Given the description of an element on the screen output the (x, y) to click on. 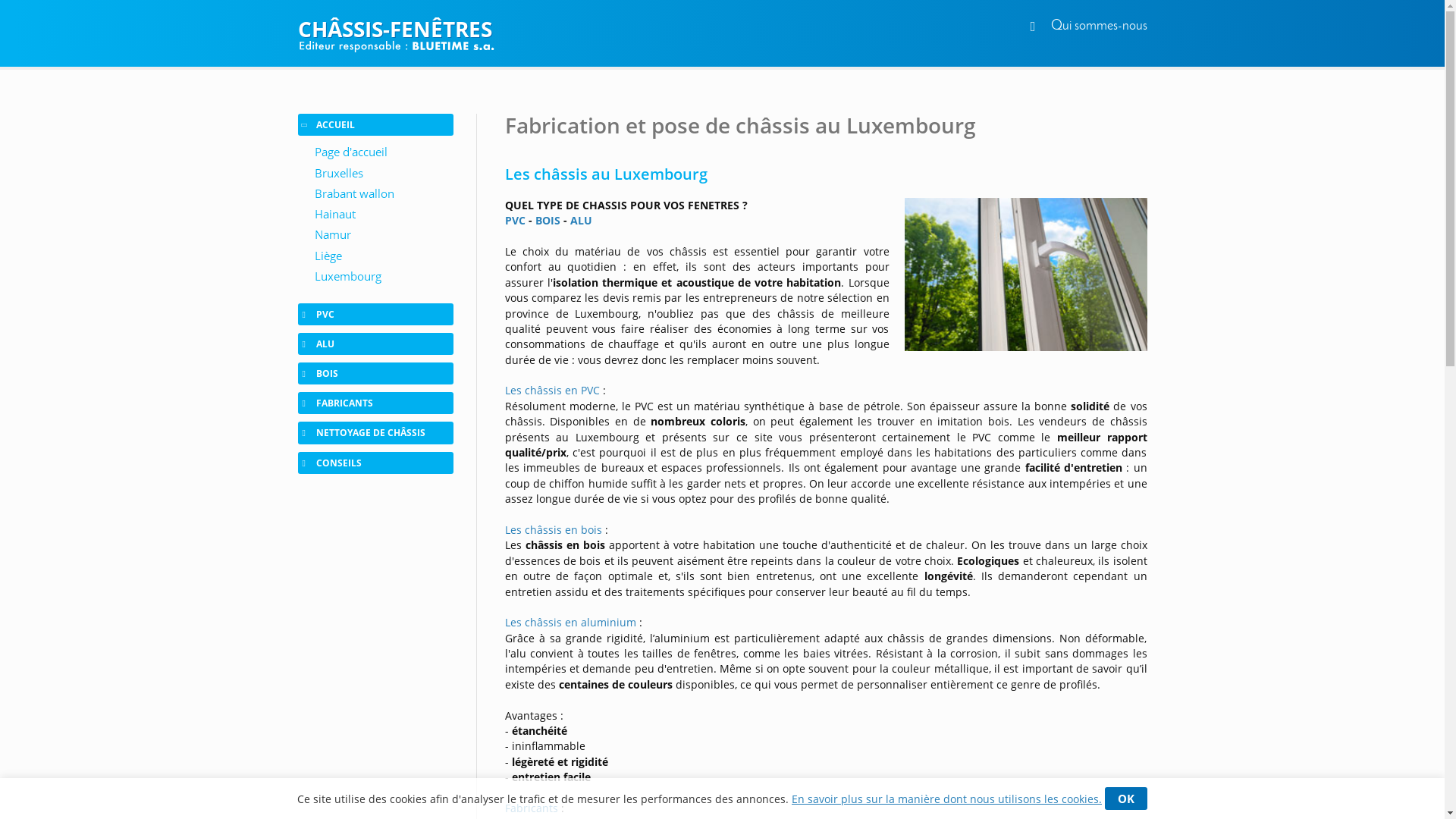
Fabricants Element type: text (531, 807)
Qui sommes-nous Element type: text (1099, 25)
ALU Element type: text (581, 220)
BOIS Element type: text (547, 220)
PVC Element type: text (515, 220)
